Given the description of an element on the screen output the (x, y) to click on. 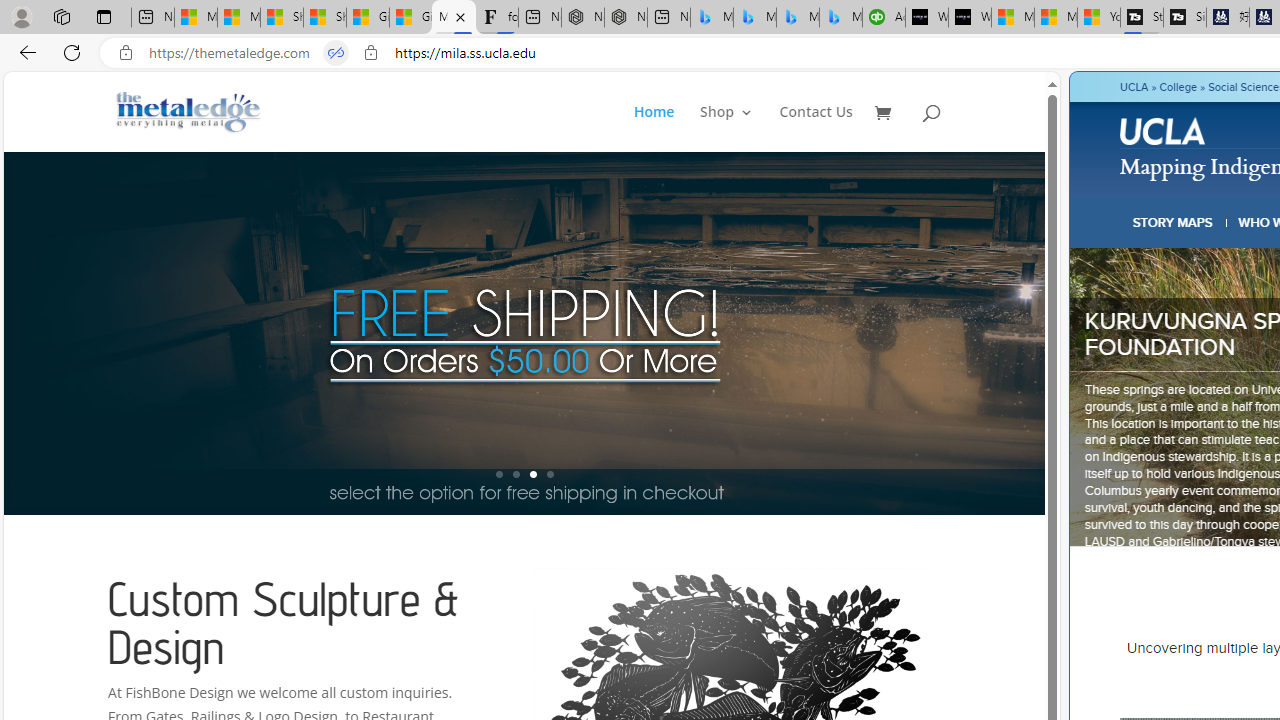
Streaming Coverage | T3 (1142, 17)
4 (550, 474)
What's the best AI voice generator? - voice.ai (969, 17)
Metal Fish Sculptures & Metal Designs (189, 111)
Microsoft Start Sports (1013, 17)
Metal Fish Sculptures & Metal Designs (189, 111)
Gilma and Hector both pose tropical trouble for Hawaii (411, 17)
Shanghai, China weather forecast | Microsoft Weather (324, 17)
Microsoft Bing Travel - Shangri-La Hotel Bangkok (840, 17)
Microsoft Bing Travel - Stays in Bangkok, Bangkok, Thailand (754, 17)
Contact Us (815, 128)
5 (1042, 332)
